Given the description of an element on the screen output the (x, y) to click on. 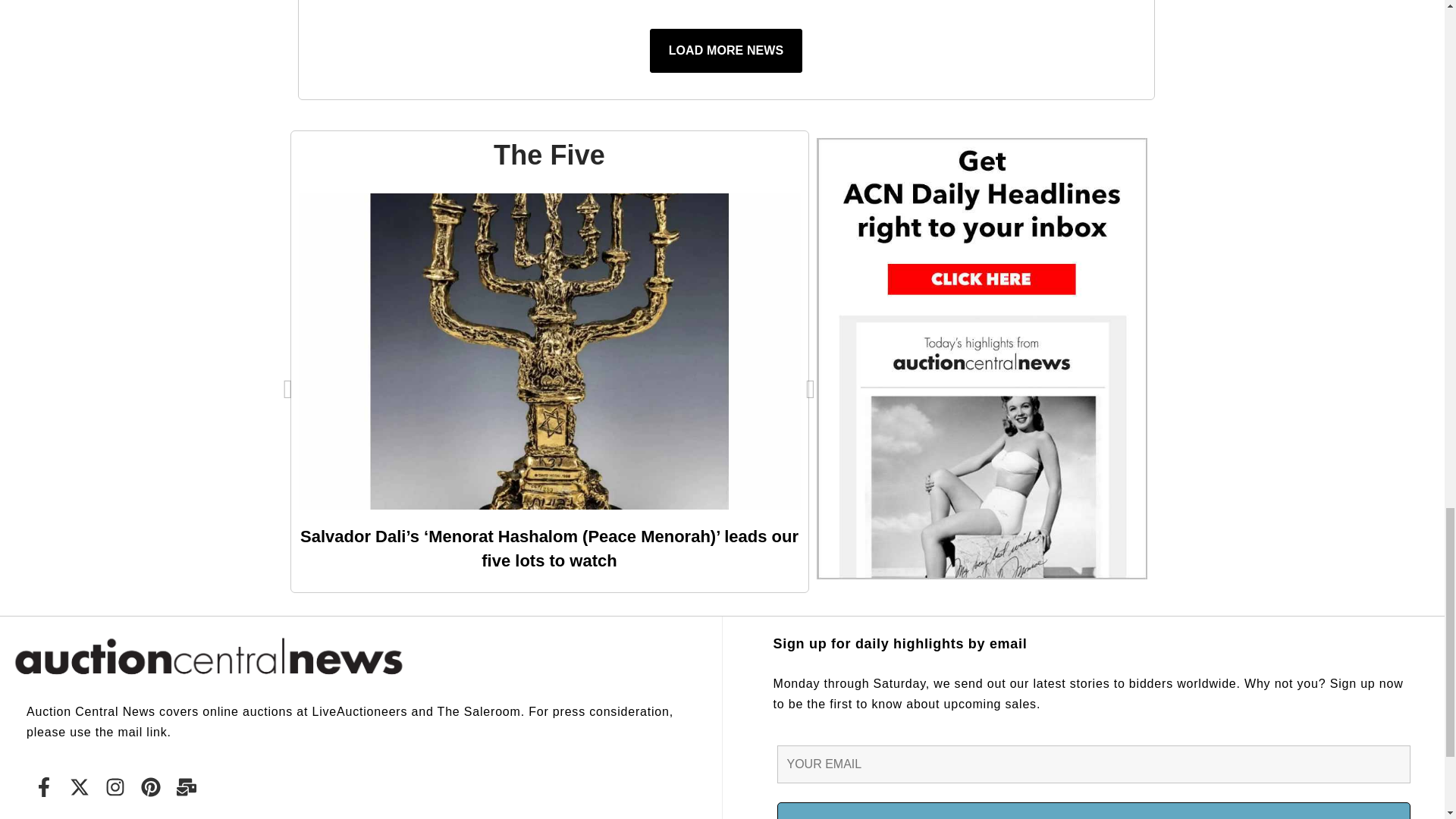
JOIN NOW (1093, 810)
